Given the description of an element on the screen output the (x, y) to click on. 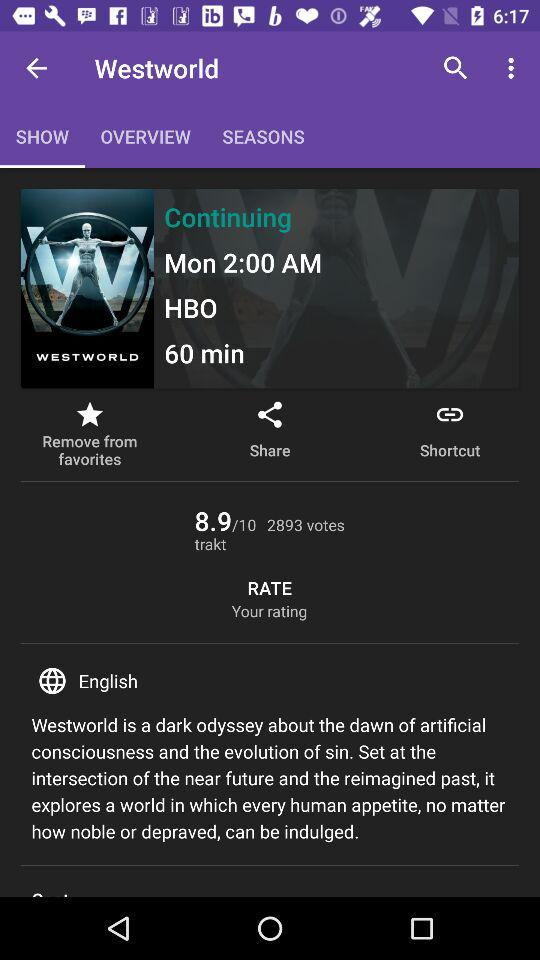
select english item (270, 680)
